Given the description of an element on the screen output the (x, y) to click on. 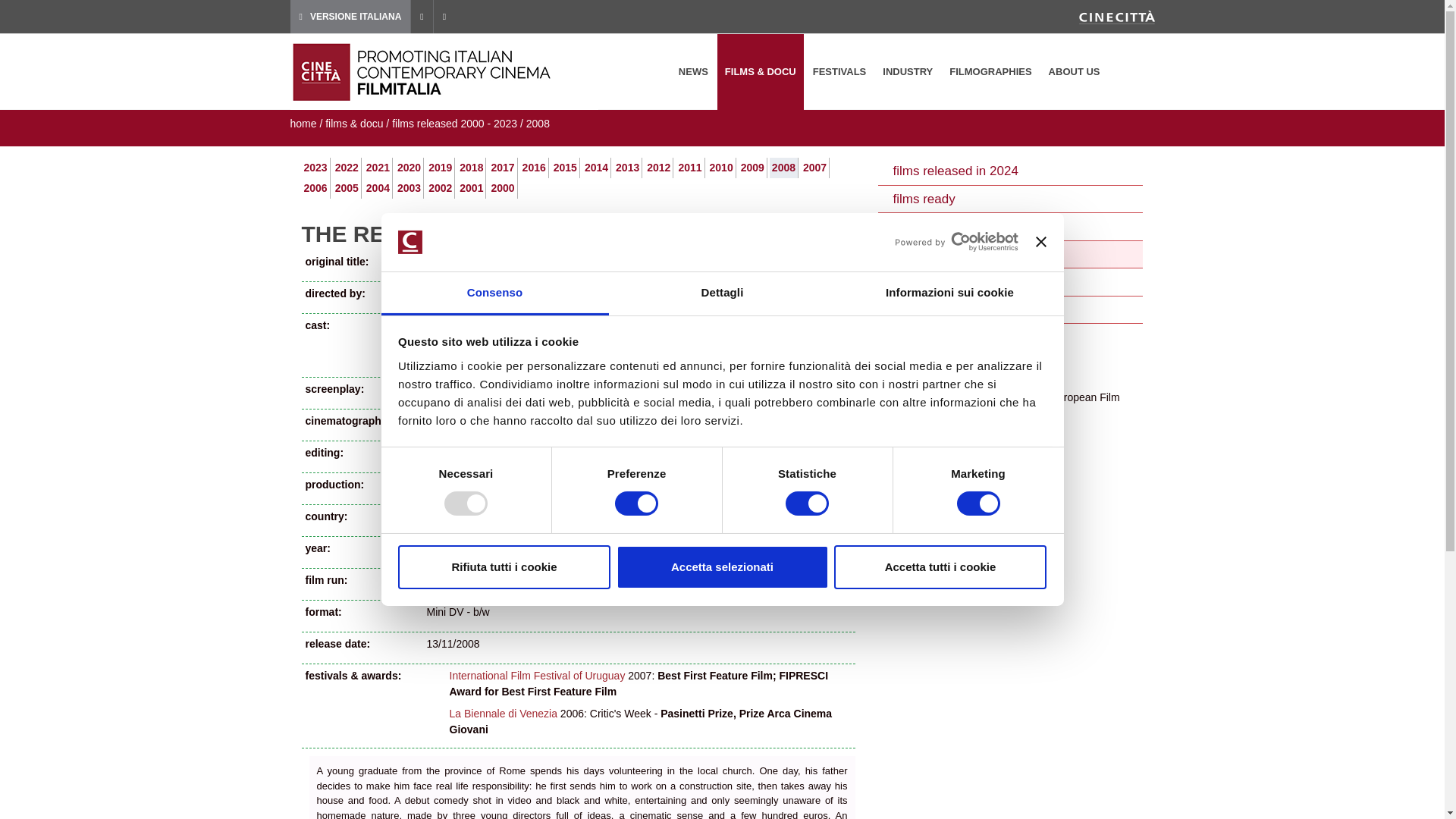
Informazioni sui cookie (948, 293)
search (1134, 72)
Dettagli (721, 293)
Consenso (494, 293)
